Given the description of an element on the screen output the (x, y) to click on. 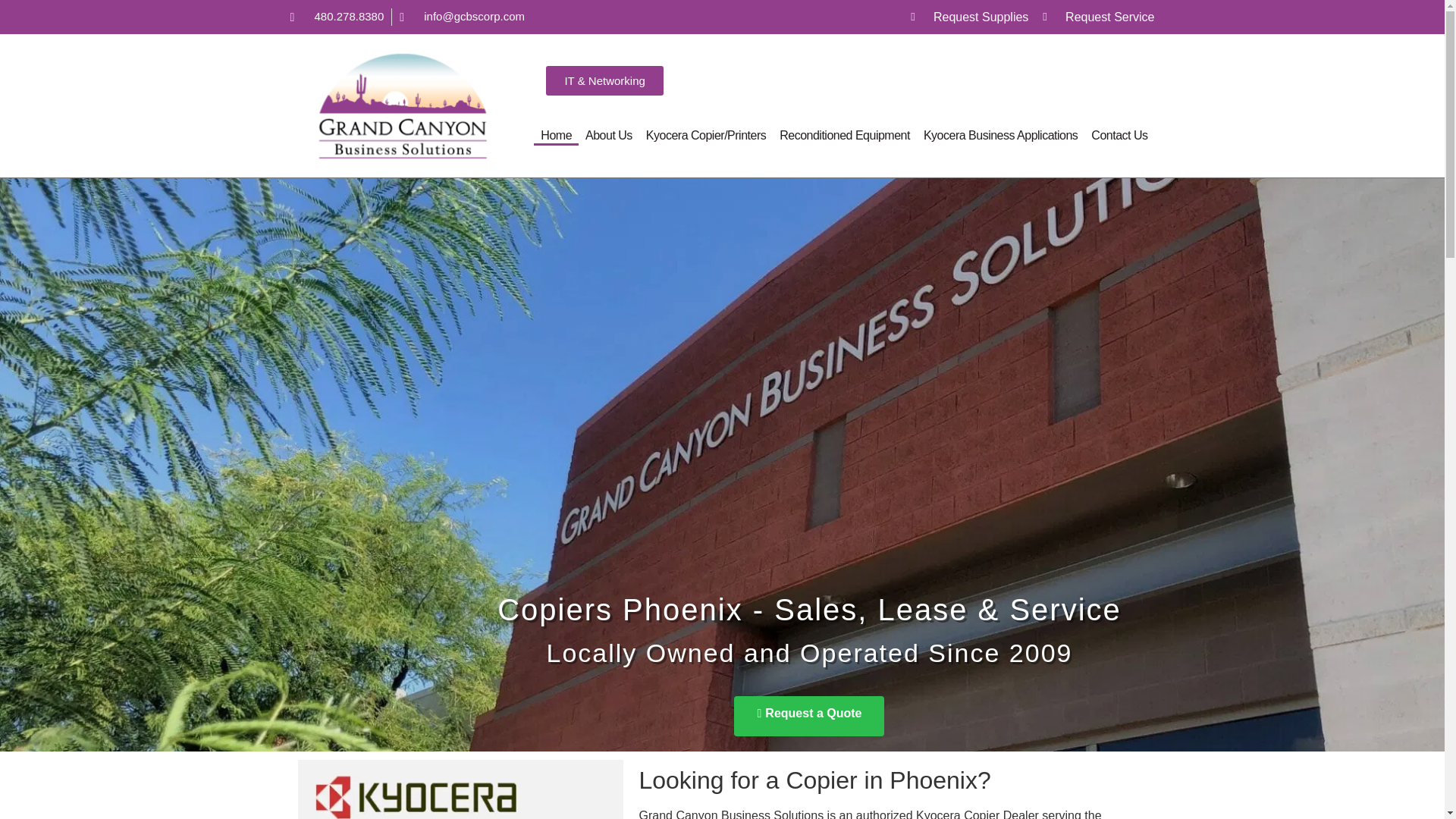
About Us (608, 135)
Request Service (1098, 16)
Request a Quote (808, 694)
Contact Us (1119, 135)
480.278.8380 (336, 16)
Home (556, 135)
Kyocera Business Applications (1000, 135)
Request Supplies (969, 16)
Reconditioned Equipment (845, 135)
